Given the description of an element on the screen output the (x, y) to click on. 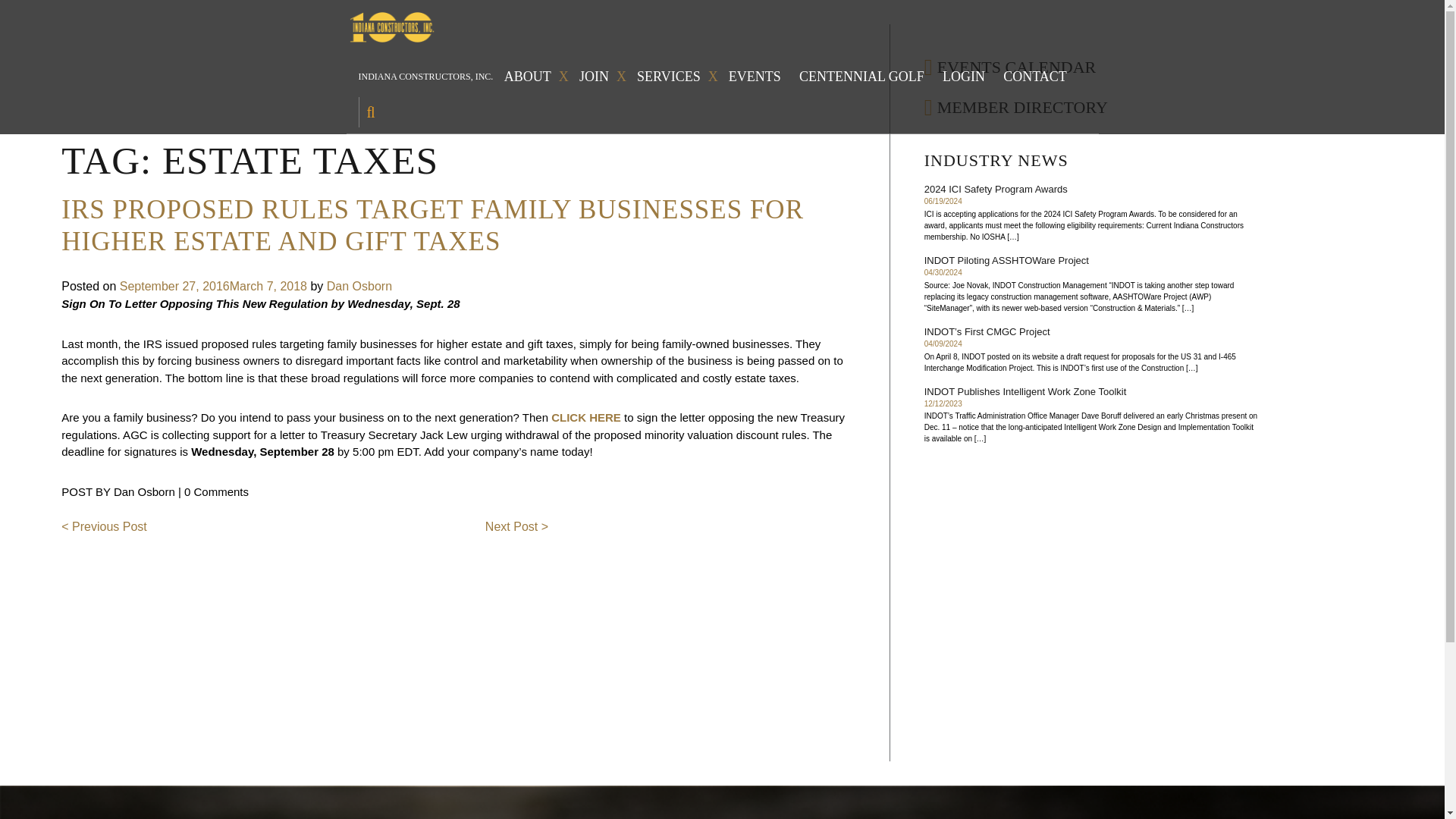
SERVICES (677, 76)
CENTENNIAL GOLF (865, 76)
ABOUT (536, 76)
INDIANA CONSTRUCTORS, INC. (425, 76)
CONTACT (1038, 76)
EVENTS (759, 76)
JOIN (602, 76)
LOGIN (967, 76)
